Given the description of an element on the screen output the (x, y) to click on. 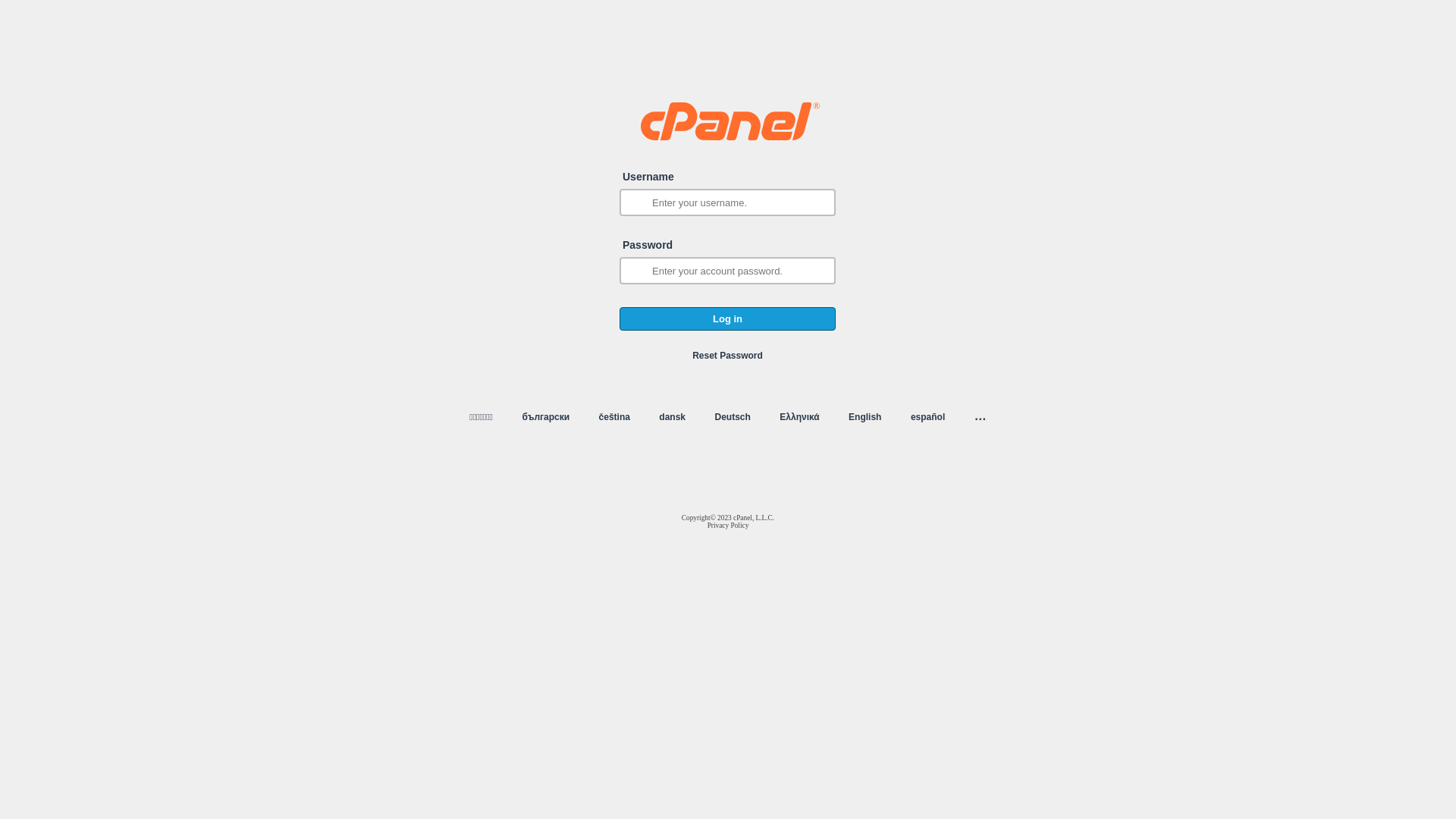
Reset Password Element type: text (727, 355)
English Element type: text (864, 416)
Log in Element type: text (727, 318)
Privacy Policy Element type: text (728, 525)
Deutsch Element type: text (731, 416)
dansk Element type: text (671, 416)
